Given the description of an element on the screen output the (x, y) to click on. 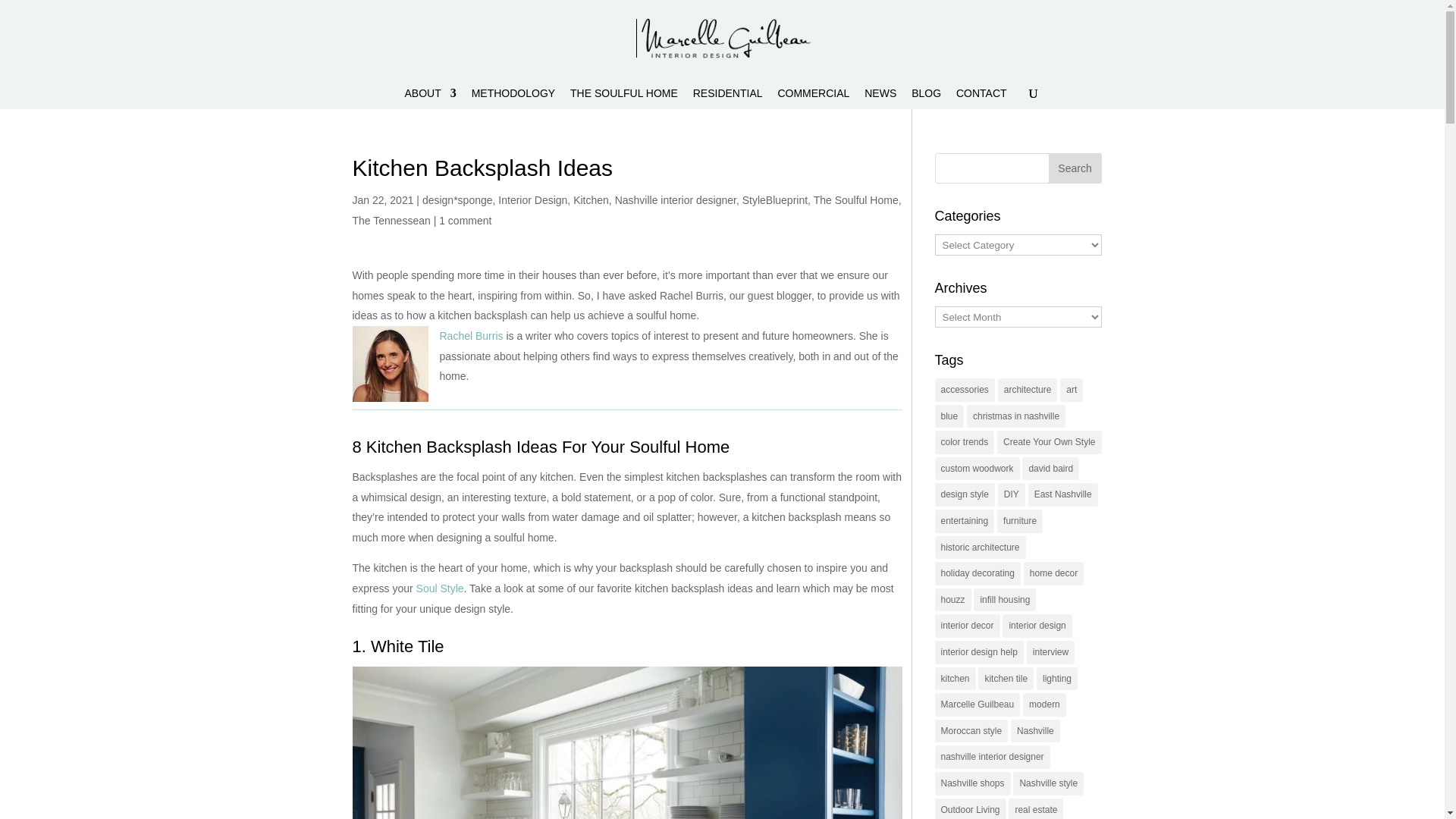
COMMERCIAL (812, 97)
The Tennessean (390, 220)
Kitchen (590, 200)
The Soulful Home (855, 200)
Rachel Burris (471, 336)
METHODOLOGY (512, 97)
Nashville interior designer (675, 200)
BLOG (925, 97)
THE SOULFUL HOME (624, 97)
Soul Style (438, 588)
